Given the description of an element on the screen output the (x, y) to click on. 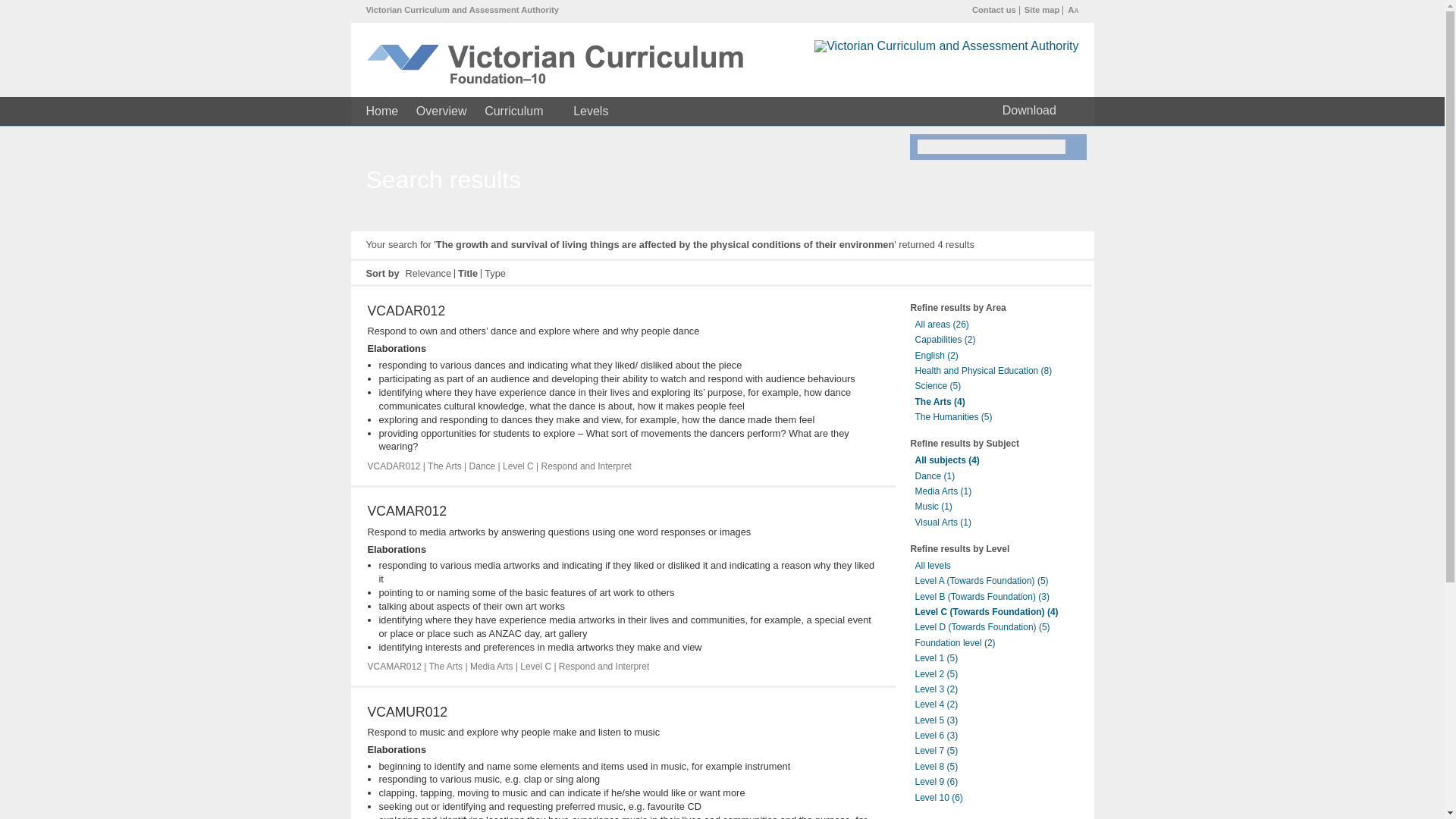
Toggle the font size larger and smaller (1072, 9)
Victorian Curriculum and Assessment Authority (461, 9)
Sort the results by title (467, 272)
Search (1077, 146)
Sort the results by curriculum element type (494, 272)
Curriculum (519, 110)
Link will open in a new window (461, 9)
Link will open in a new window (945, 45)
AA (1072, 9)
Search criteria (991, 146)
Site map (1042, 9)
Overview (441, 110)
Contact us (994, 9)
Home (381, 110)
Sort the results by relevance (428, 272)
